Given the description of an element on the screen output the (x, y) to click on. 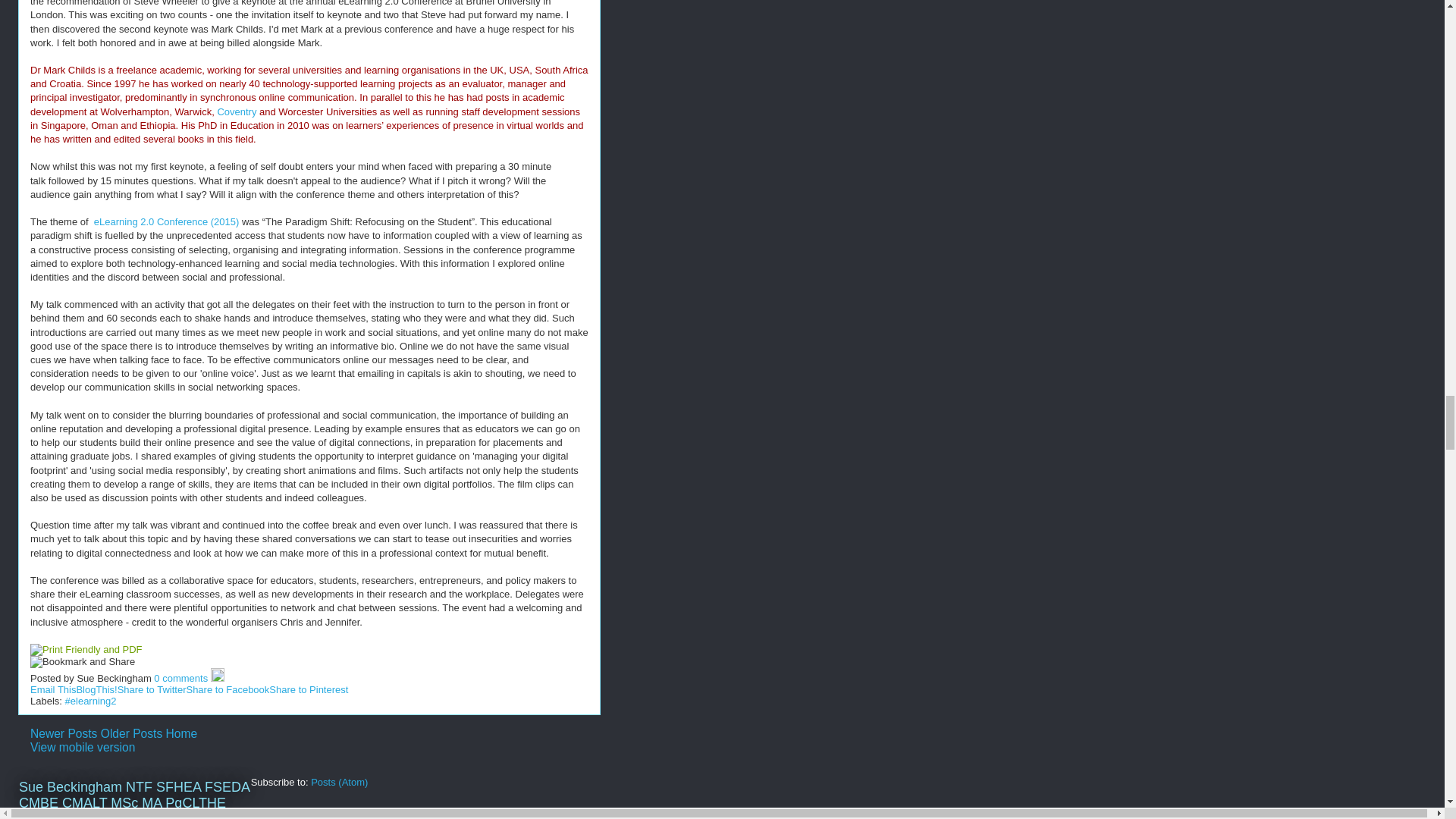
Edit Post (217, 677)
Printer Friendly and PDF (86, 649)
